Given the description of an element on the screen output the (x, y) to click on. 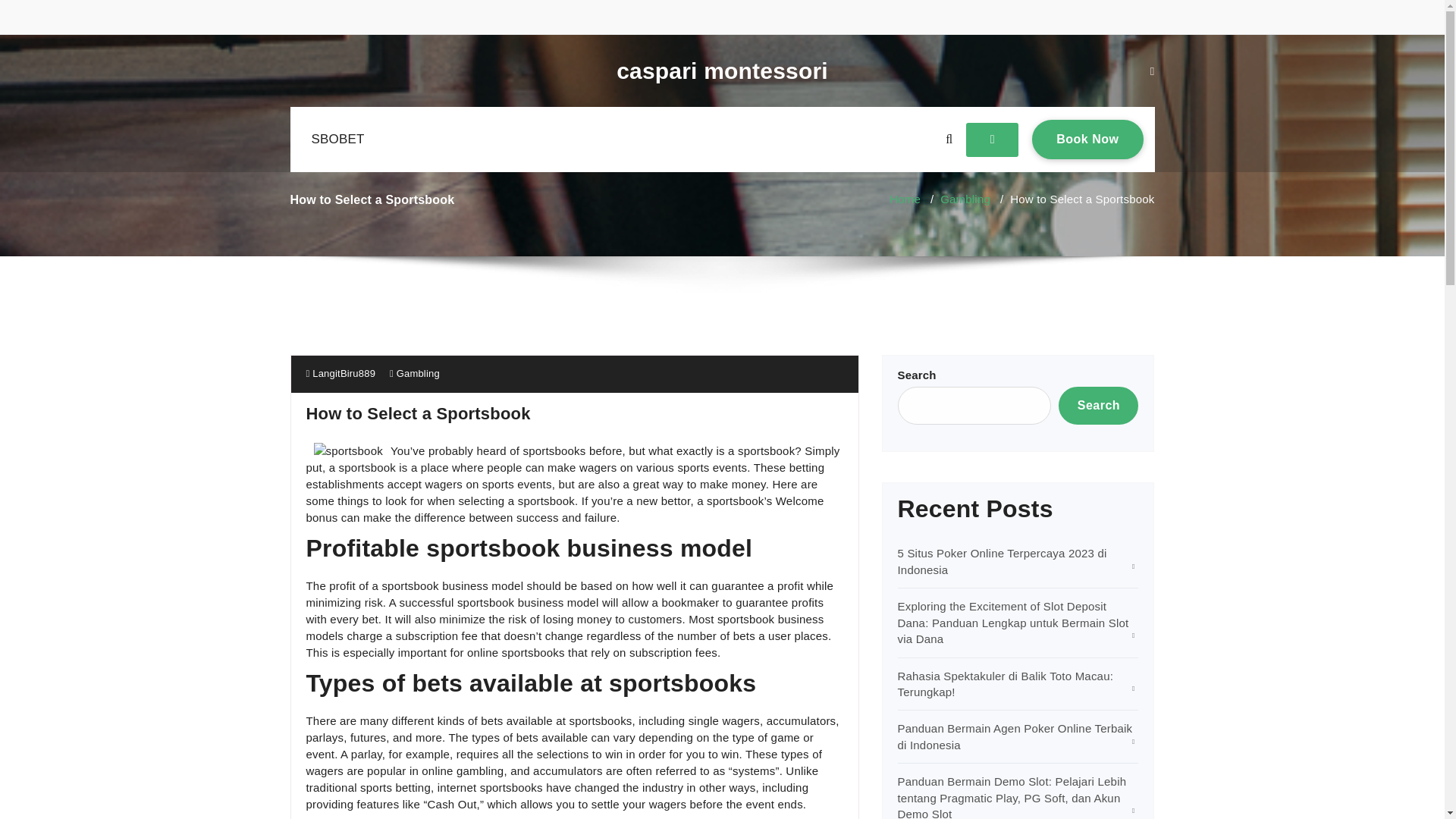
Gambling (965, 198)
Gambling (417, 373)
Search (1098, 405)
Panduan Bermain Agen Poker Online Terbaik di Indonesia (1015, 736)
5 Situs Poker Online Terpercaya 2023 di Indonesia (1002, 561)
LangitBiru889 (1087, 138)
Rahasia Spektakuler di Balik Toto Macau: Terungkap! (340, 373)
Home (1005, 683)
SBOBET (904, 198)
caspari montessori (336, 139)
